Given the description of an element on the screen output the (x, y) to click on. 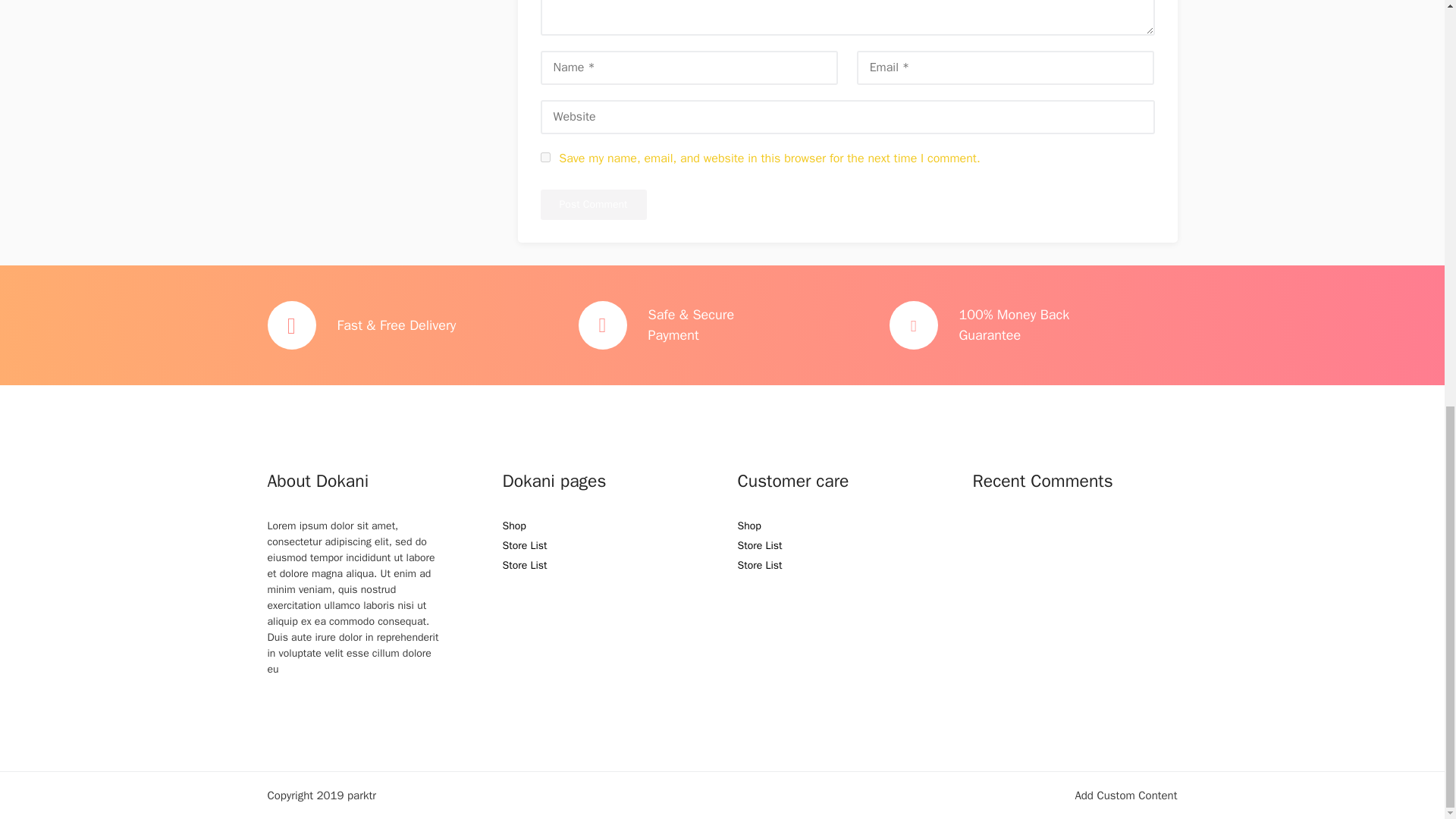
Store List (524, 545)
Shop (513, 525)
Post Comment (593, 204)
Store List (524, 564)
Shop (748, 525)
yes (545, 157)
Post Comment (593, 204)
